Given the description of an element on the screen output the (x, y) to click on. 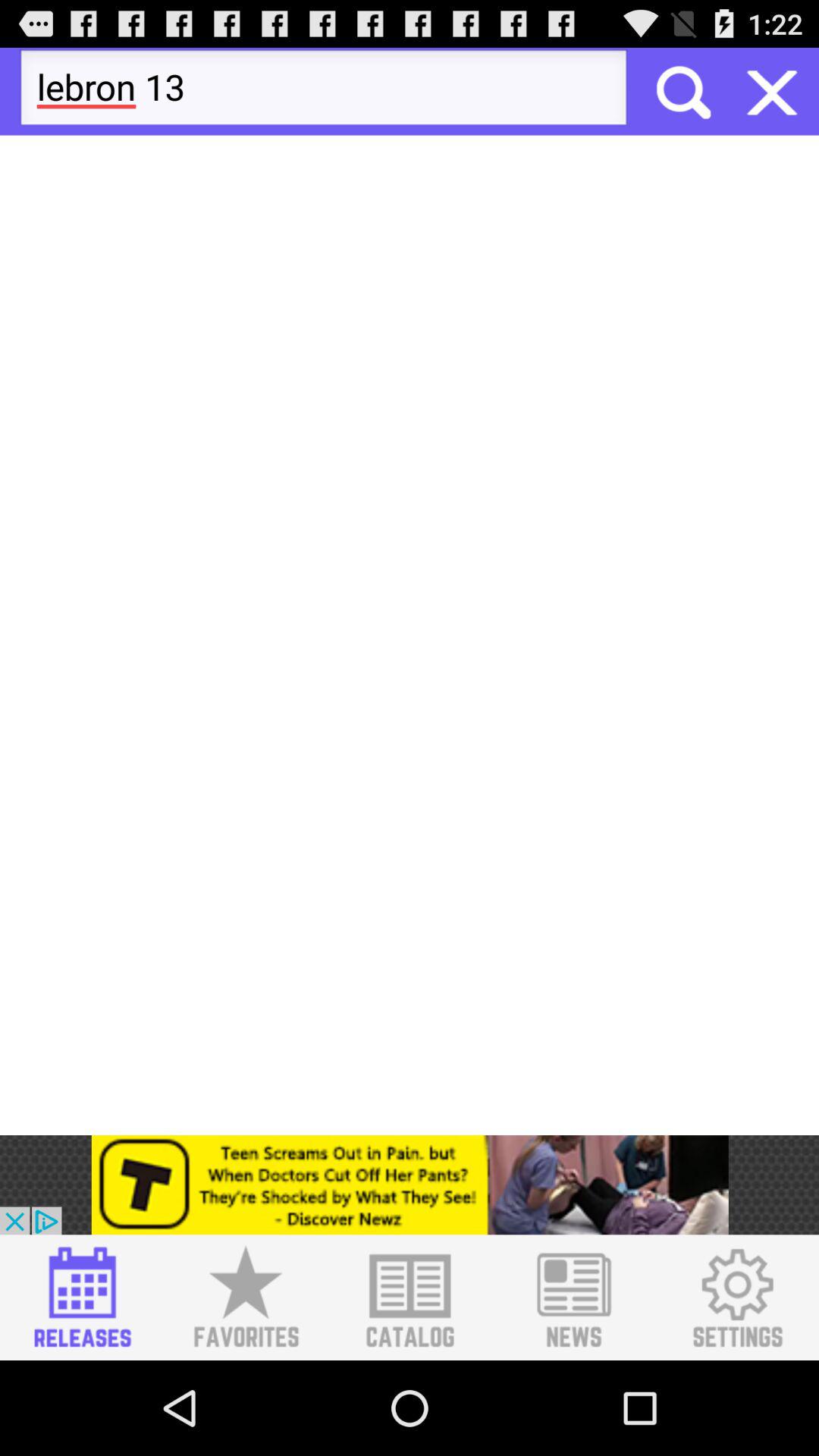
serch (682, 91)
